Given the description of an element on the screen output the (x, y) to click on. 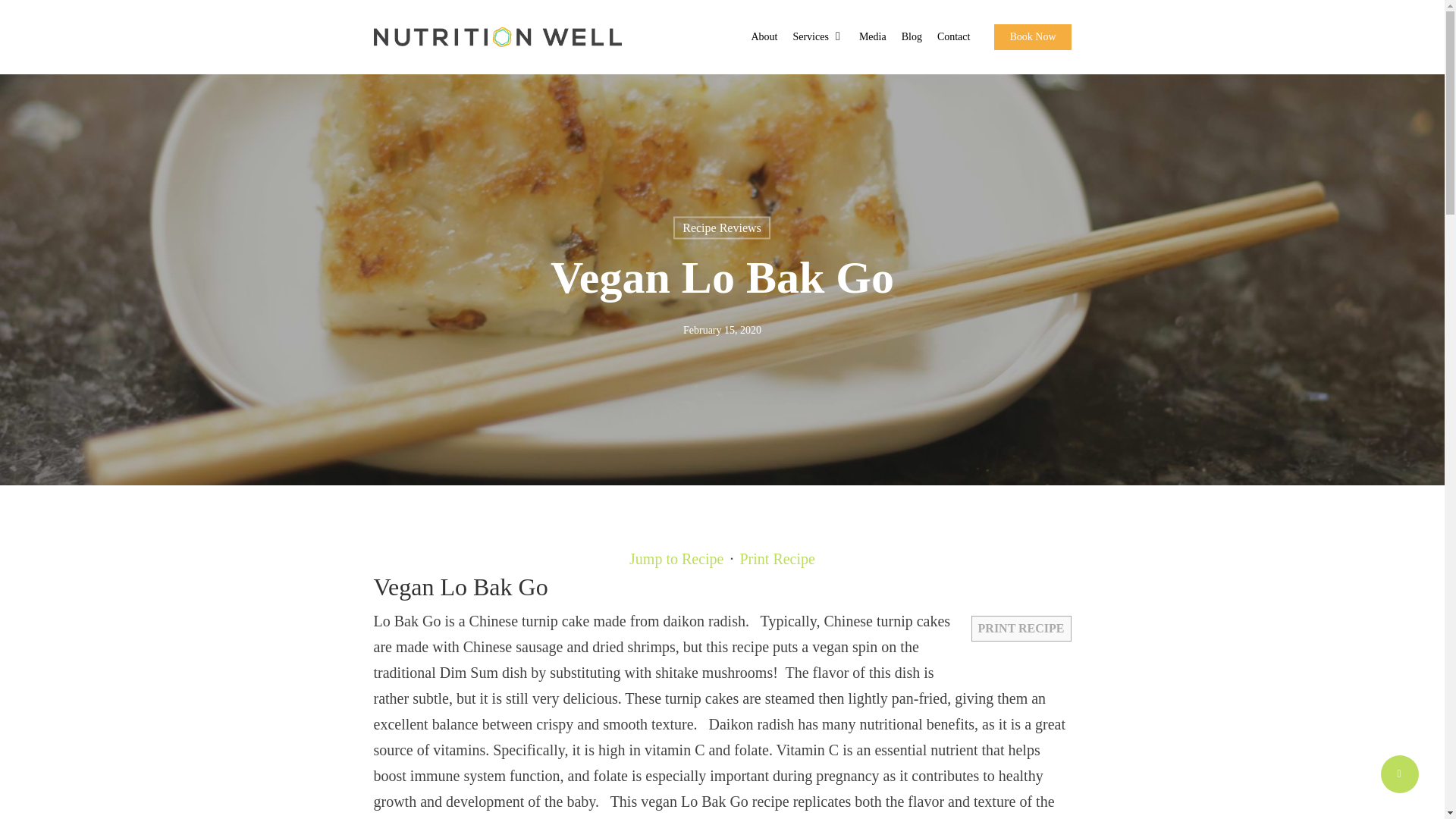
Contact (954, 37)
Recipe Reviews (721, 228)
Media (872, 37)
PRINT RECIPE (1021, 628)
About (764, 37)
Blog (911, 37)
Book Now (1032, 37)
Services (817, 37)
Jump to Recipe (676, 558)
Print Recipe (777, 558)
